Given the description of an element on the screen output the (x, y) to click on. 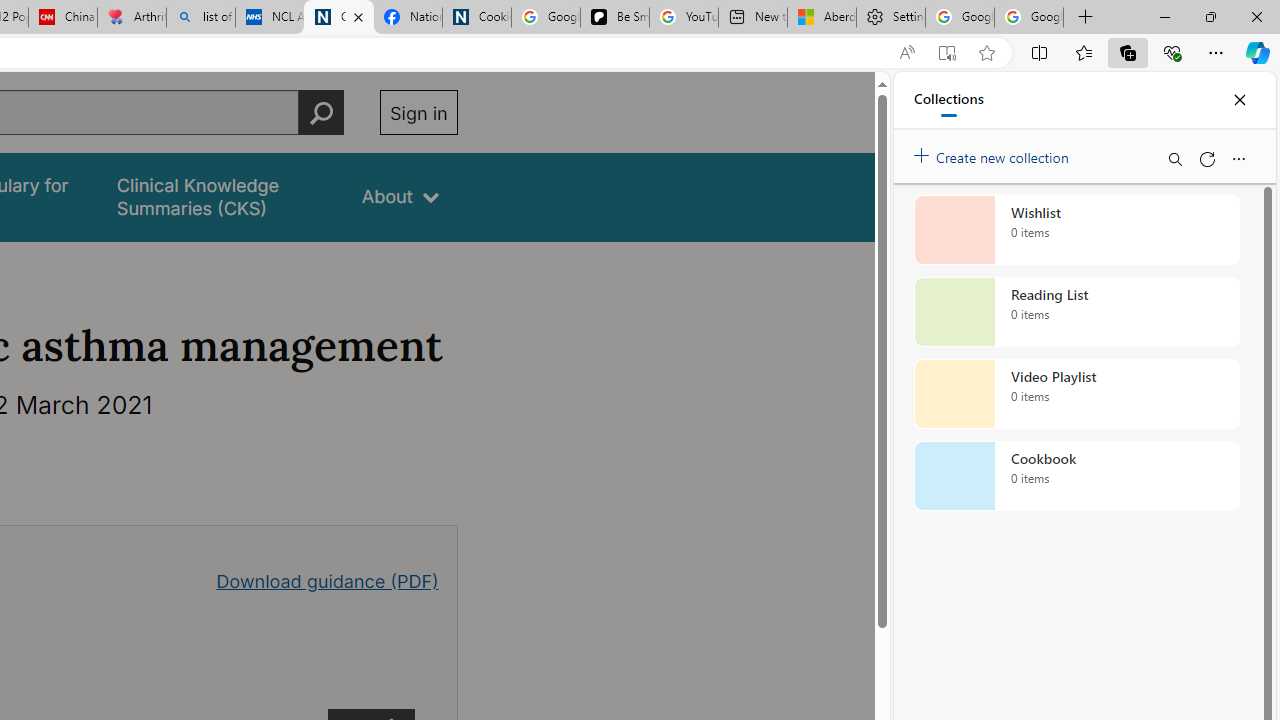
false (221, 196)
Perform search (321, 112)
Video Playlist collection, 0 items (1076, 394)
Cookbook collection, 0 items (1076, 475)
